Given the description of an element on the screen output the (x, y) to click on. 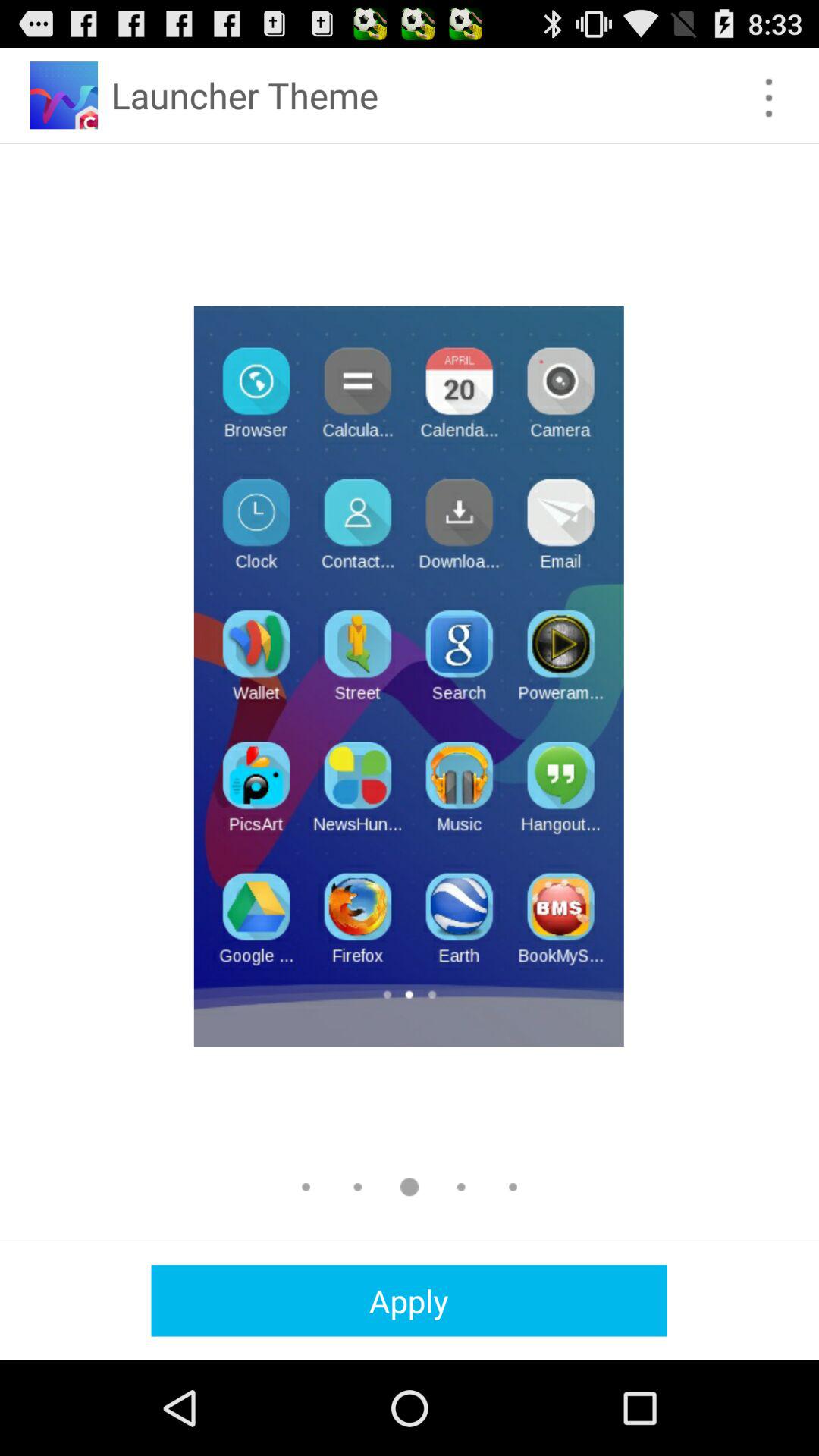
click icon to the right of the launcher theme icon (768, 97)
